Given the description of an element on the screen output the (x, y) to click on. 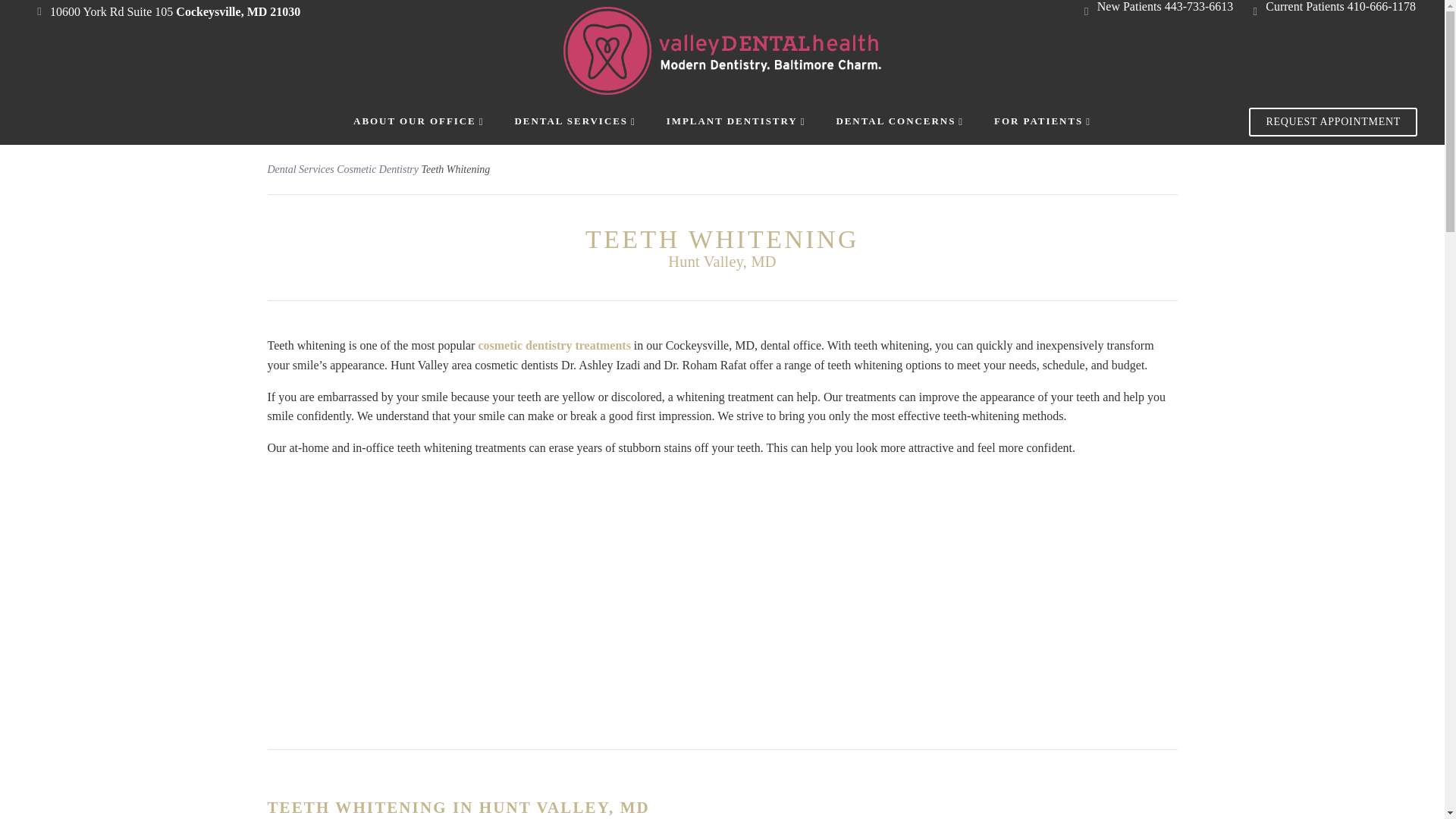
YouTube video player (721, 588)
Current Patients 410-666-1178 (1340, 6)
DENTAL SERVICES (573, 120)
ABOUT OUR OFFICE (418, 120)
IMPLANT DENTISTRY (736, 120)
New Patients 443-733-6613 (1165, 6)
